Given the description of an element on the screen output the (x, y) to click on. 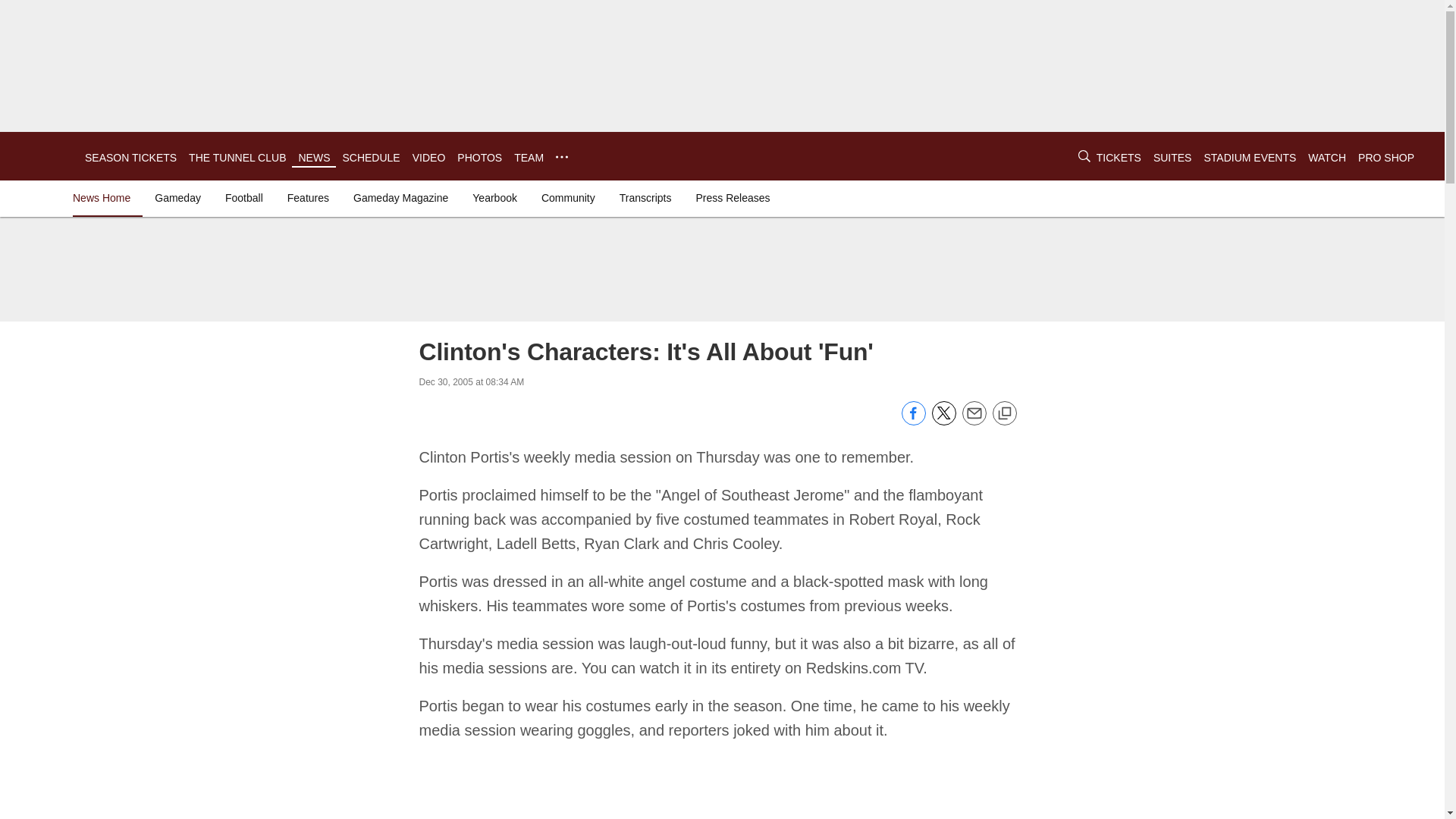
PRO SHOP (1385, 157)
Link to club's homepage (42, 156)
WATCH (1326, 157)
Gameday Magazine (400, 197)
THE TUNNEL CLUB (237, 157)
Gameday (177, 197)
Press Releases (732, 197)
Community (568, 197)
SCHEDULE (370, 157)
NEWS (314, 157)
